Given the description of an element on the screen output the (x, y) to click on. 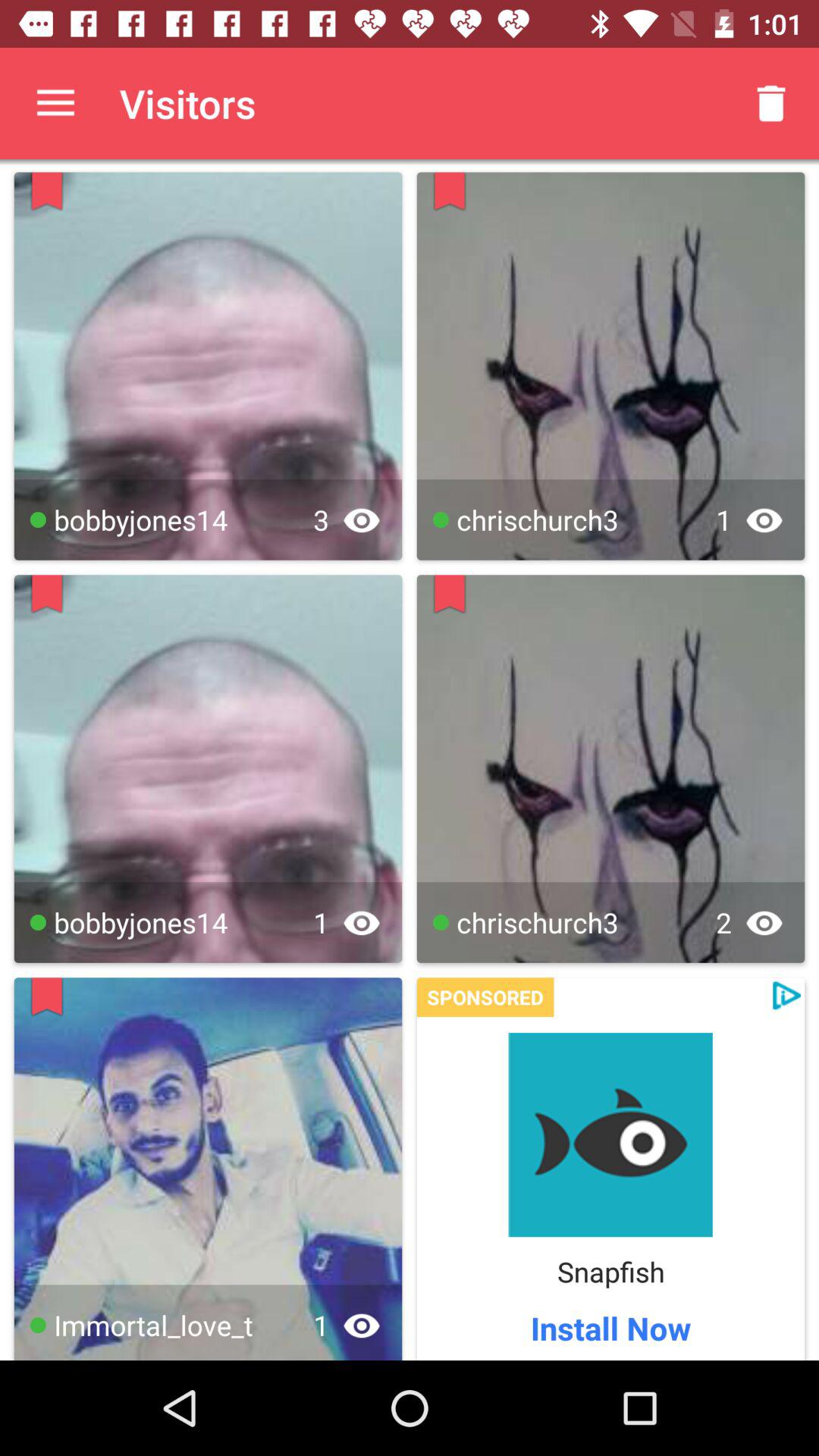
flip to sponsored (484, 996)
